Given the description of an element on the screen output the (x, y) to click on. 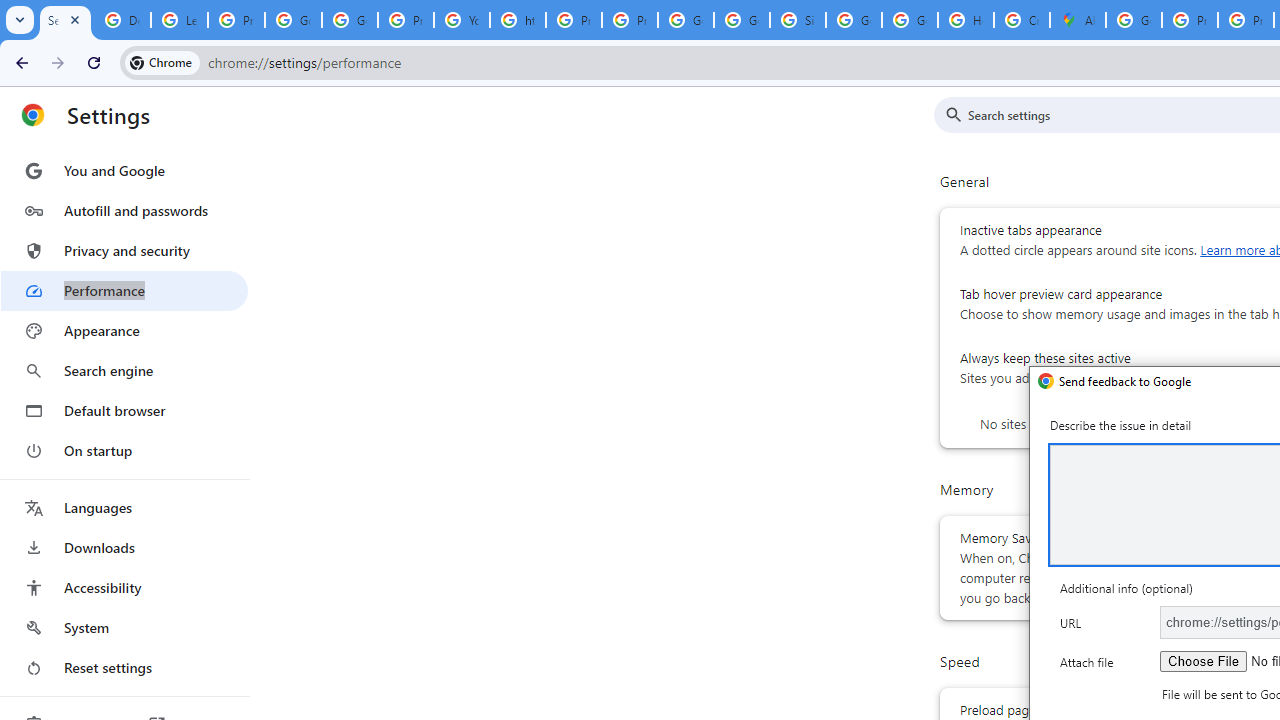
Create your Google Account (1021, 20)
You and Google (124, 170)
Performance (124, 290)
Reset settings (124, 668)
